Given the description of an element on the screen output the (x, y) to click on. 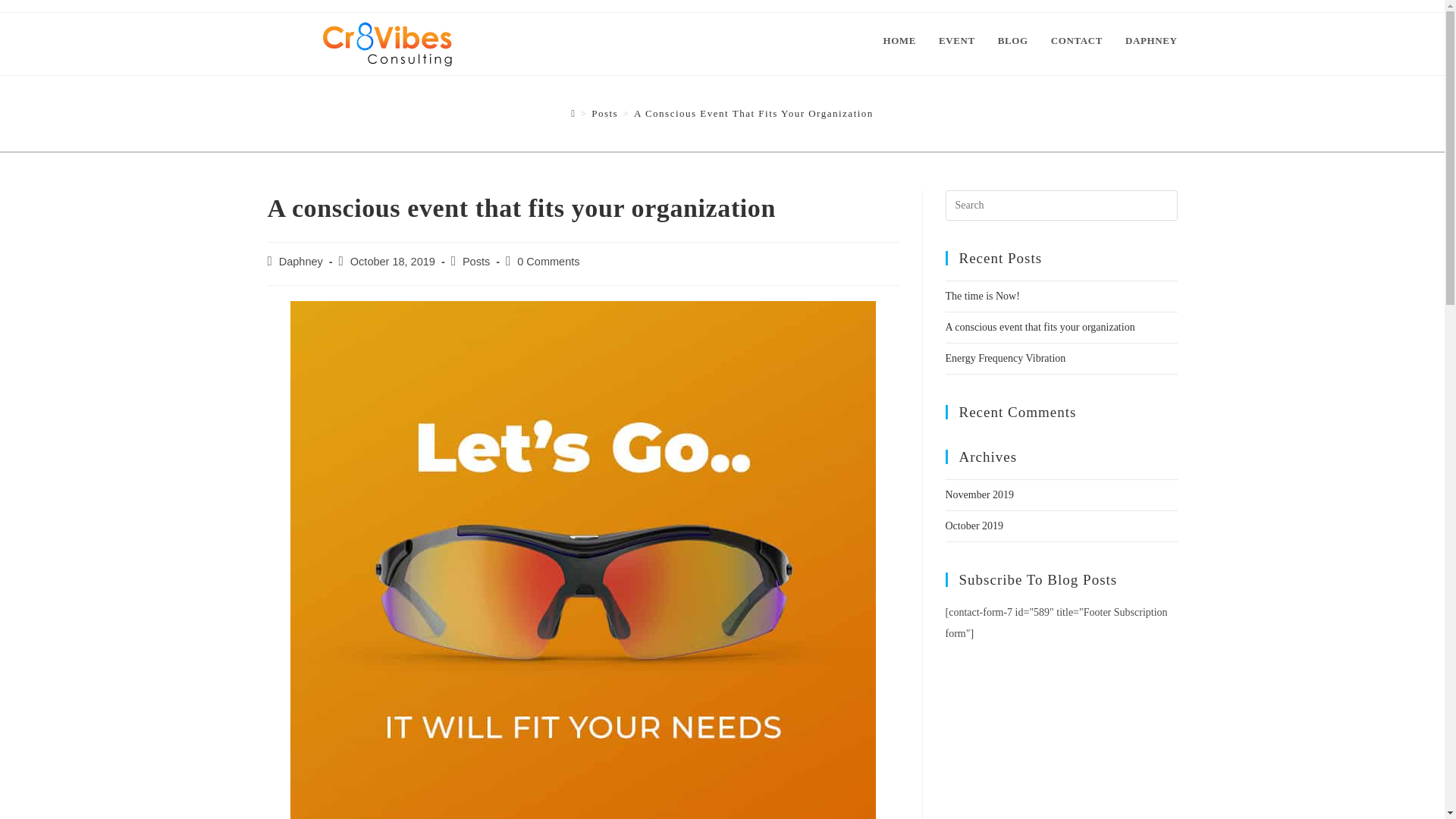
A Conscious Event That Fits Your Organization (753, 112)
Energy Frequency Vibration (1004, 357)
The time is Now! (981, 296)
EVENT (957, 40)
Posts (604, 112)
BLOG (1013, 40)
A conscious event that fits your organization (1039, 326)
DAPHNEY (1150, 40)
November 2019 (978, 494)
Posts by Daphney (301, 261)
